Given the description of an element on the screen output the (x, y) to click on. 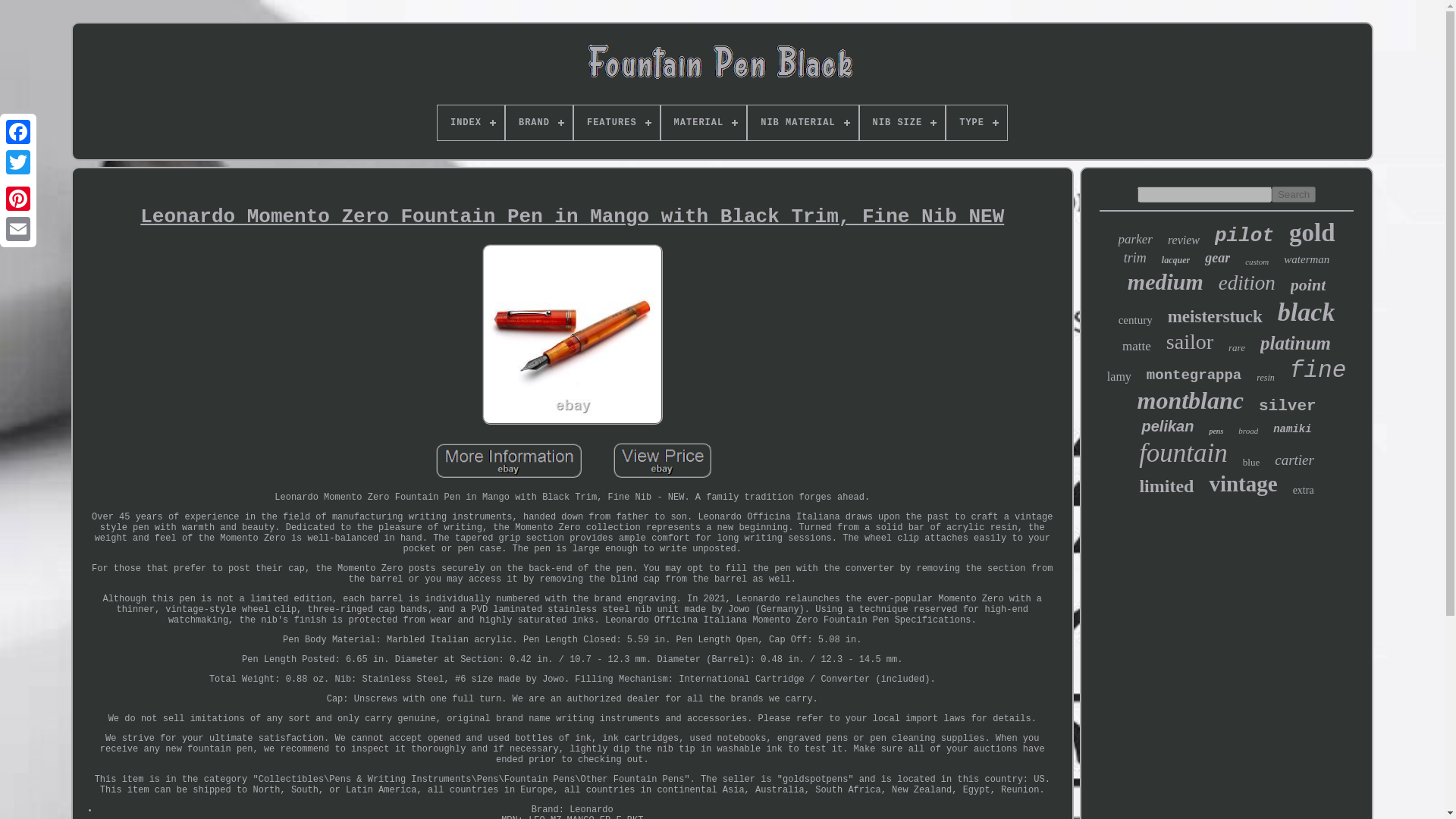
FEATURES (616, 122)
BRAND (538, 122)
INDEX (470, 122)
Search (1293, 194)
